Given the description of an element on the screen output the (x, y) to click on. 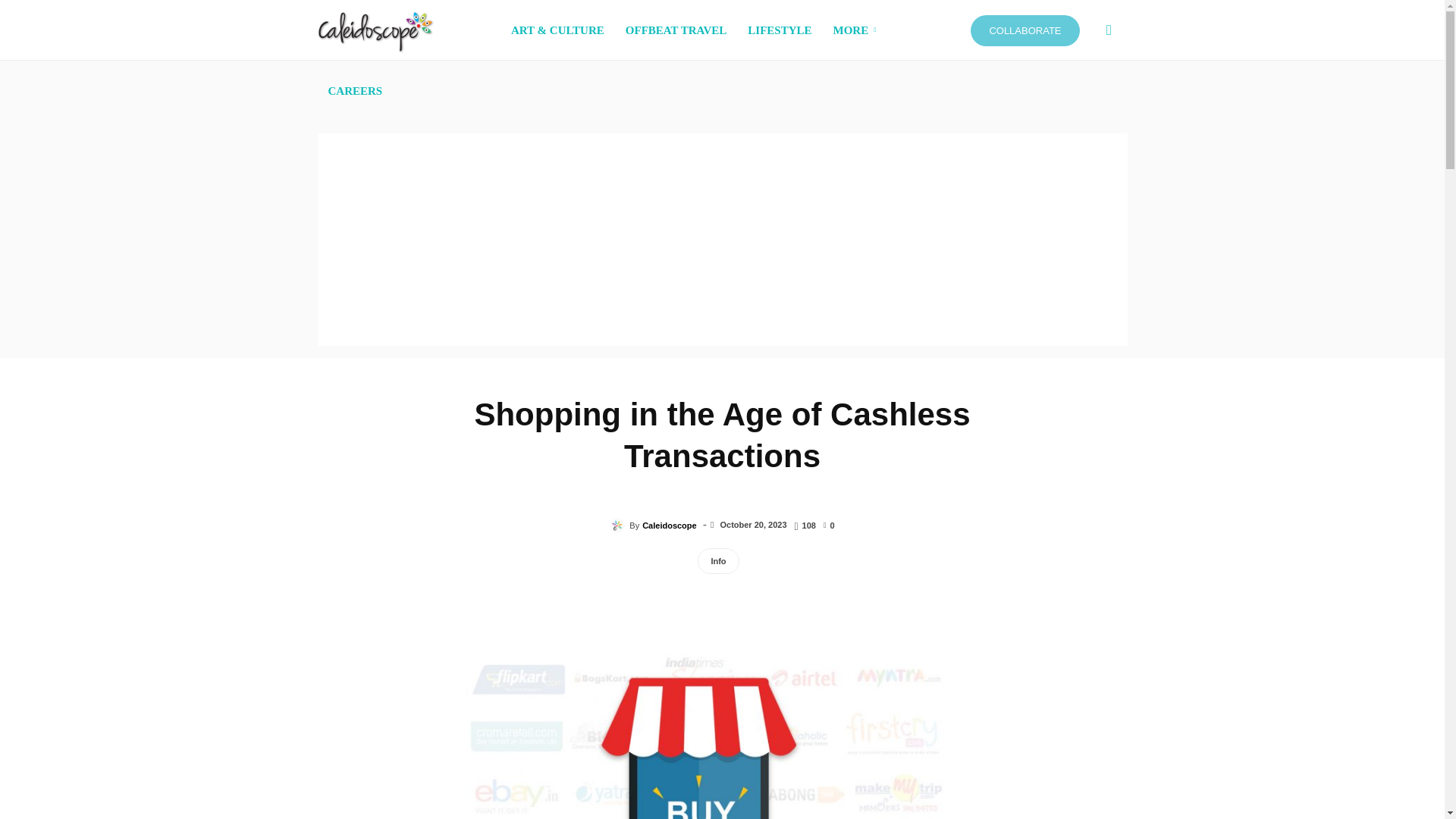
LIFESTYLE (779, 30)
Caleidoscope (619, 525)
CAREERS (355, 90)
MORE (857, 30)
0 (829, 524)
Caleidoscope (669, 525)
COLLABORATE (1024, 30)
COLLABORATE (1024, 30)
Search (1085, 102)
OFFBEAT TRAVEL (676, 30)
Info (717, 560)
